Given the description of an element on the screen output the (x, y) to click on. 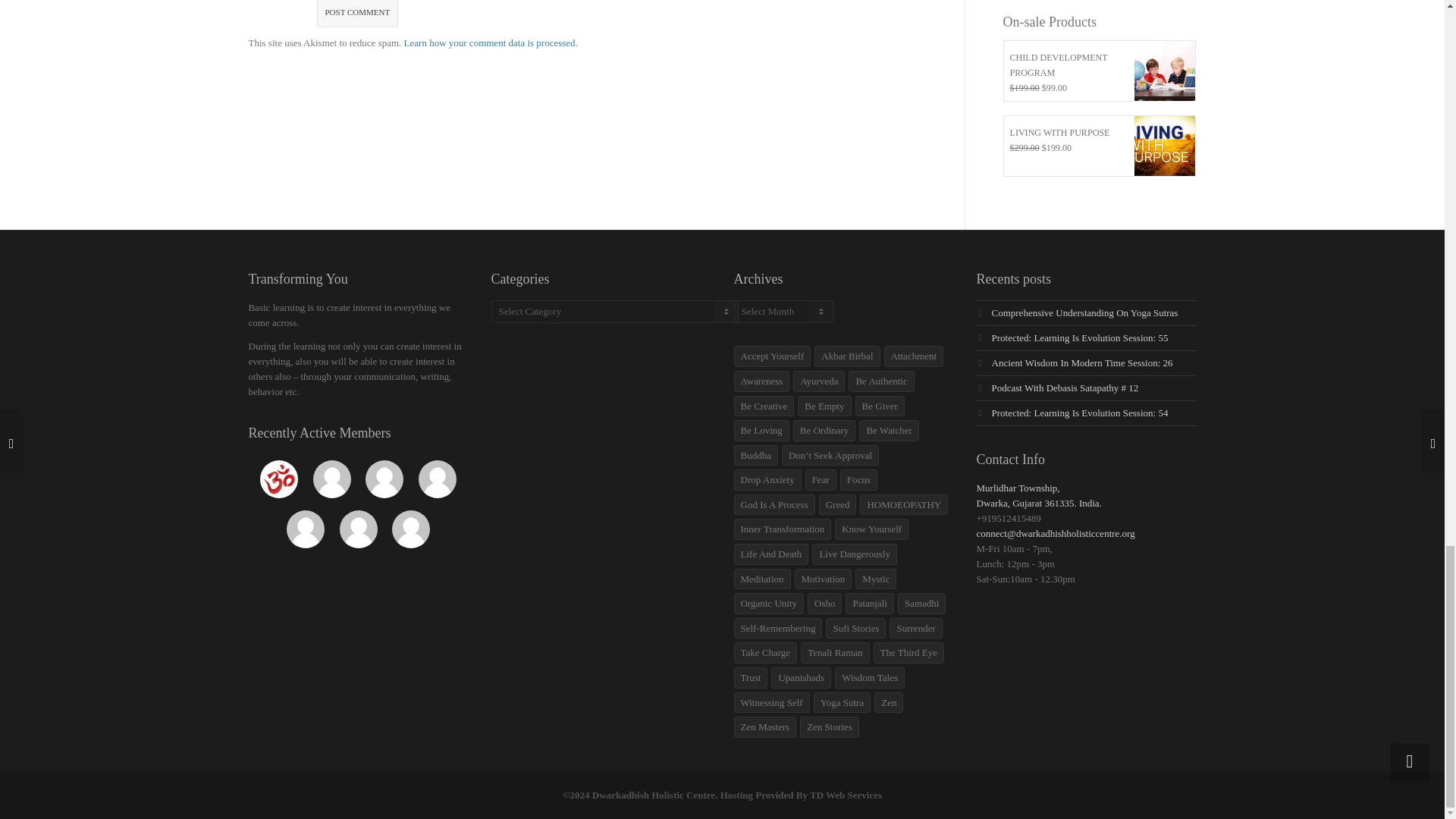
Post comment (357, 13)
